Given the description of an element on the screen output the (x, y) to click on. 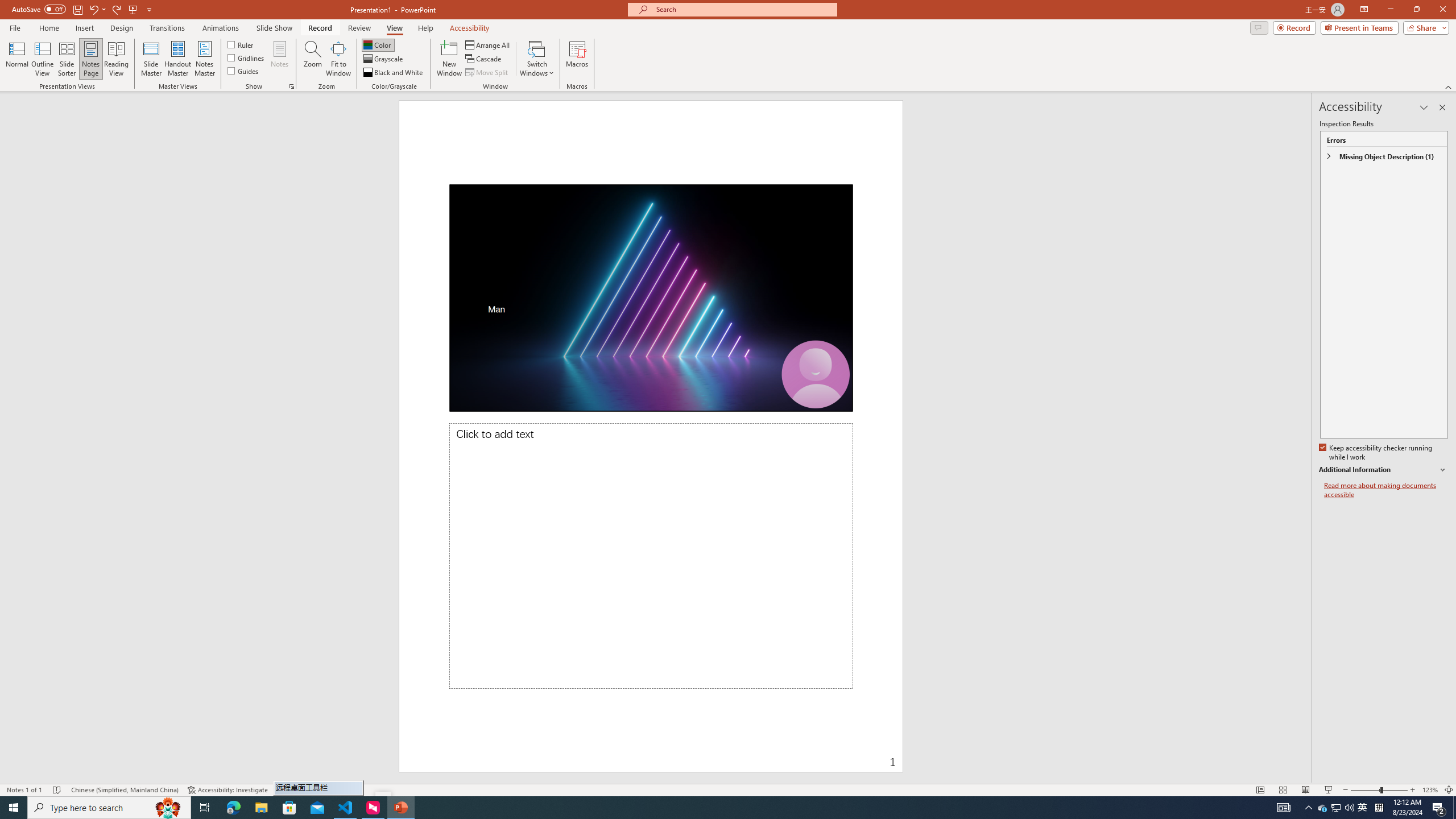
New Window (449, 58)
Macros (576, 58)
Page Number (793, 754)
Move Split (487, 72)
Handout Master (177, 58)
